Given the description of an element on the screen output the (x, y) to click on. 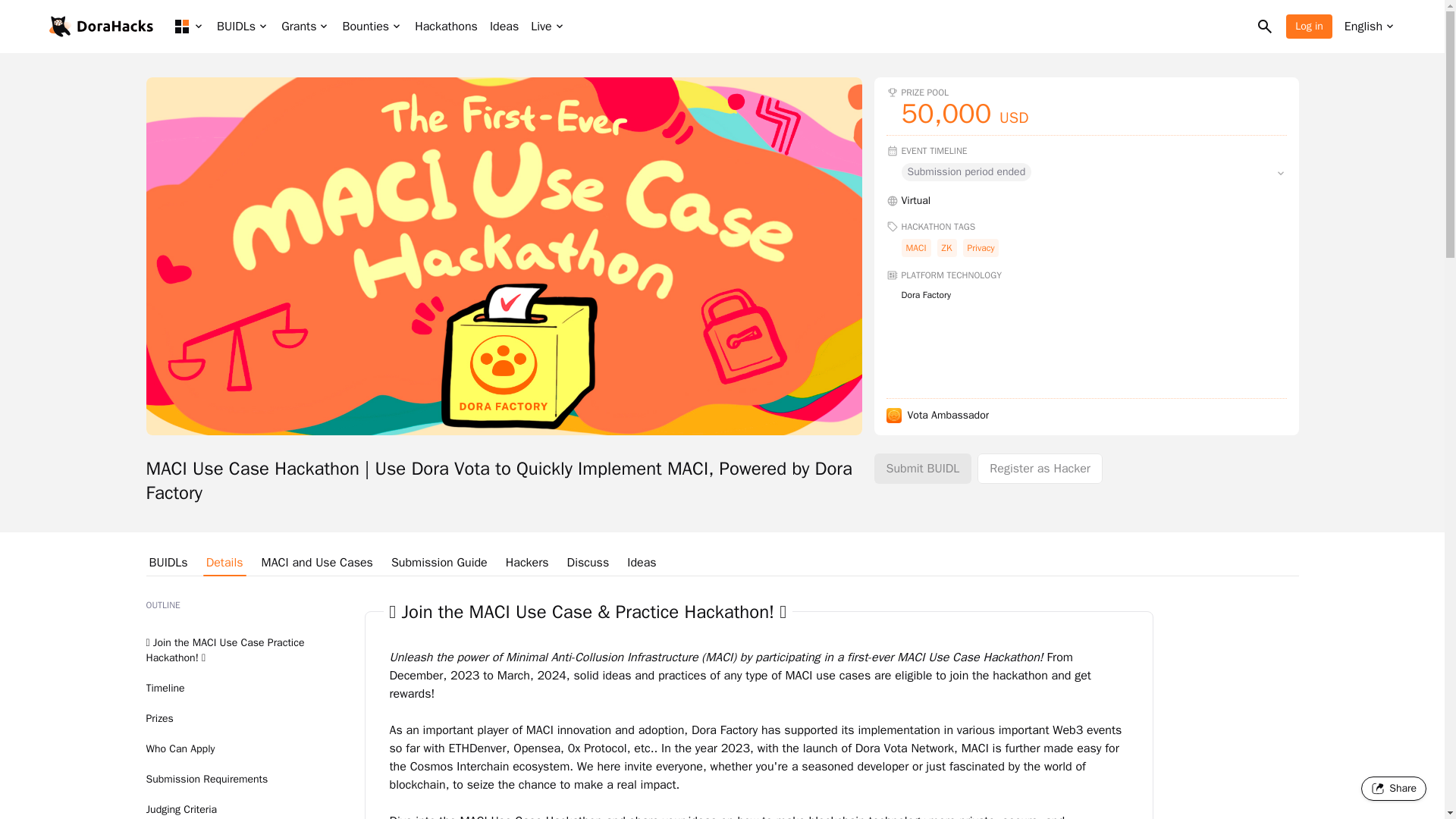
Prizes (159, 717)
Judging Criteria (180, 809)
MACI and Use Cases (317, 563)
BUIDLs (167, 563)
Submission Requirements (206, 779)
Discuss (588, 563)
Ideas (641, 563)
Submission Guide (439, 563)
Hackers (526, 563)
Log in (1308, 26)
Timeline (164, 687)
Hackathons (445, 26)
Ideas (503, 26)
Vota Ambassador (1085, 415)
Who Can Apply (179, 748)
